Given the description of an element on the screen output the (x, y) to click on. 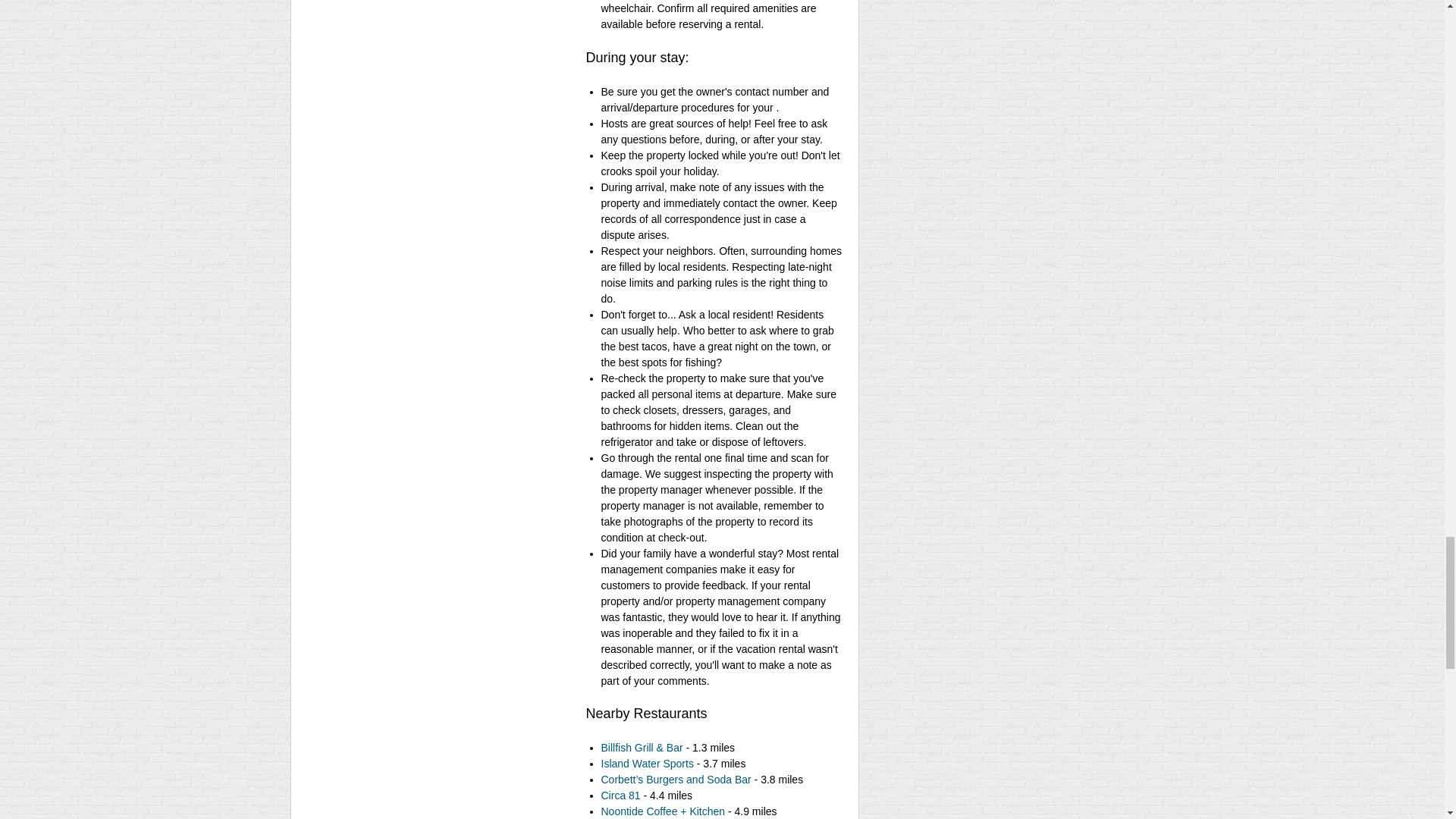
Island Water Sports (646, 763)
Circa 81 (619, 795)
